Given the description of an element on the screen output the (x, y) to click on. 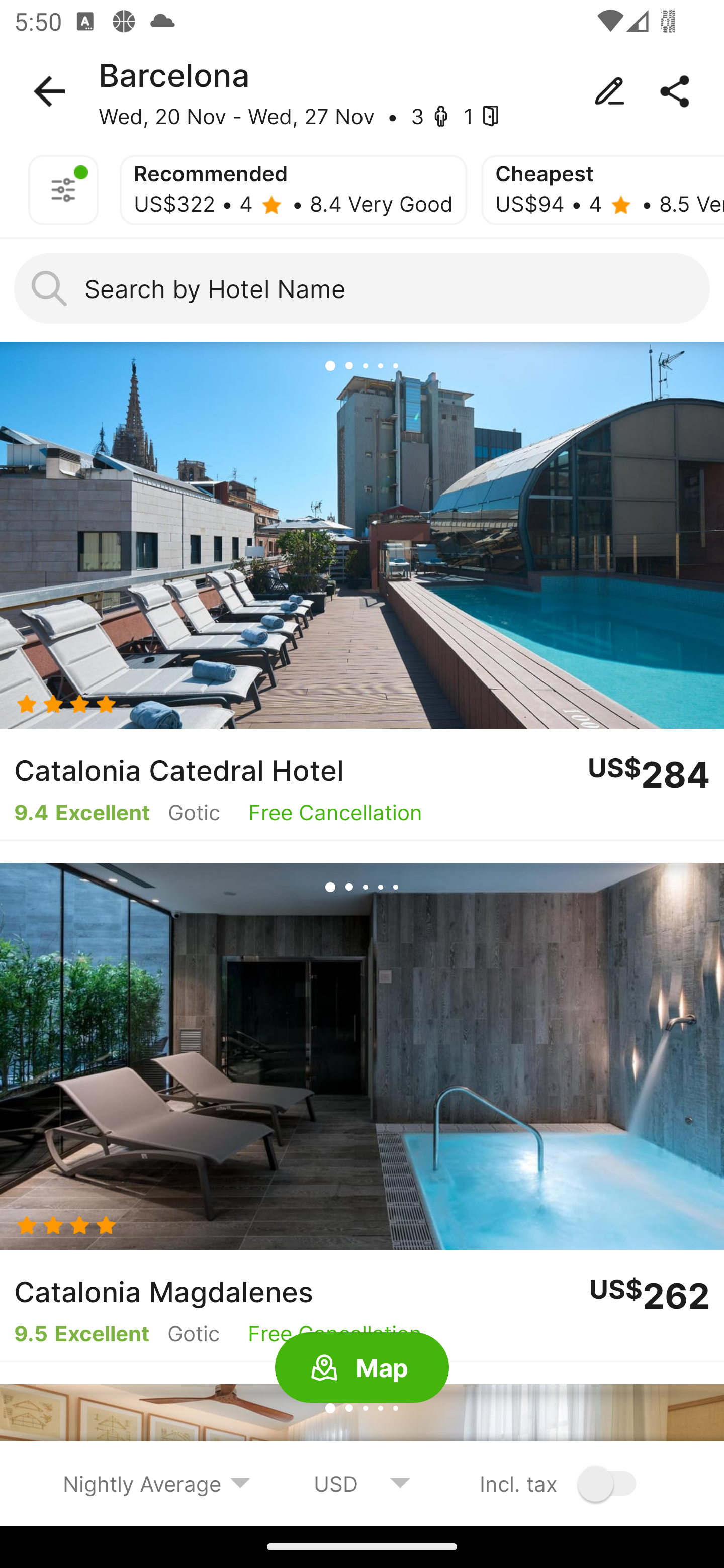
Barcelona Wed, 20 Nov - Wed, 27 Nov  •  3 -  1 - (361, 91)
Recommended  US$322  • 4 - • 8.4 Very Good (292, 190)
Cheapest US$94  • 4 - • 8.5 Very Good (602, 190)
Search by Hotel Name  (361, 288)
Map  (361, 1367)
Nightly Average (156, 1482)
USD (361, 1482)
